Given the description of an element on the screen output the (x, y) to click on. 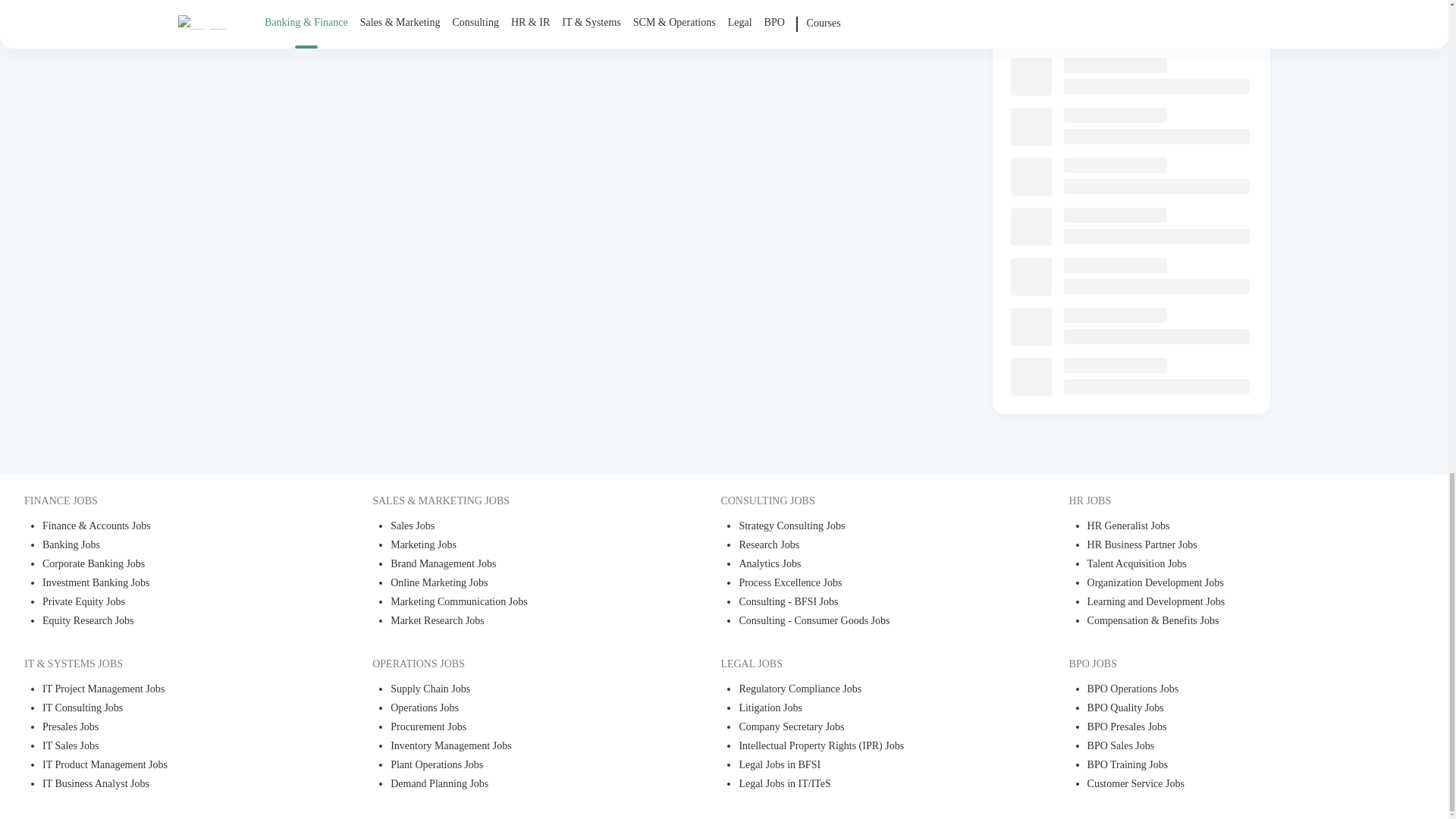
Marketing Communication Jobs (521, 602)
Corporate Banking Jobs (173, 565)
FINANCE JOBS (164, 500)
Private Equity Jobs (173, 602)
Private Equity Jobs (173, 602)
Consulting - BFSI Jobs (869, 602)
Brand Management Jobs (521, 565)
Sales Jobs (521, 527)
Strategy Consulting Jobs (869, 527)
Banking Jobs (173, 546)
